Given the description of an element on the screen output the (x, y) to click on. 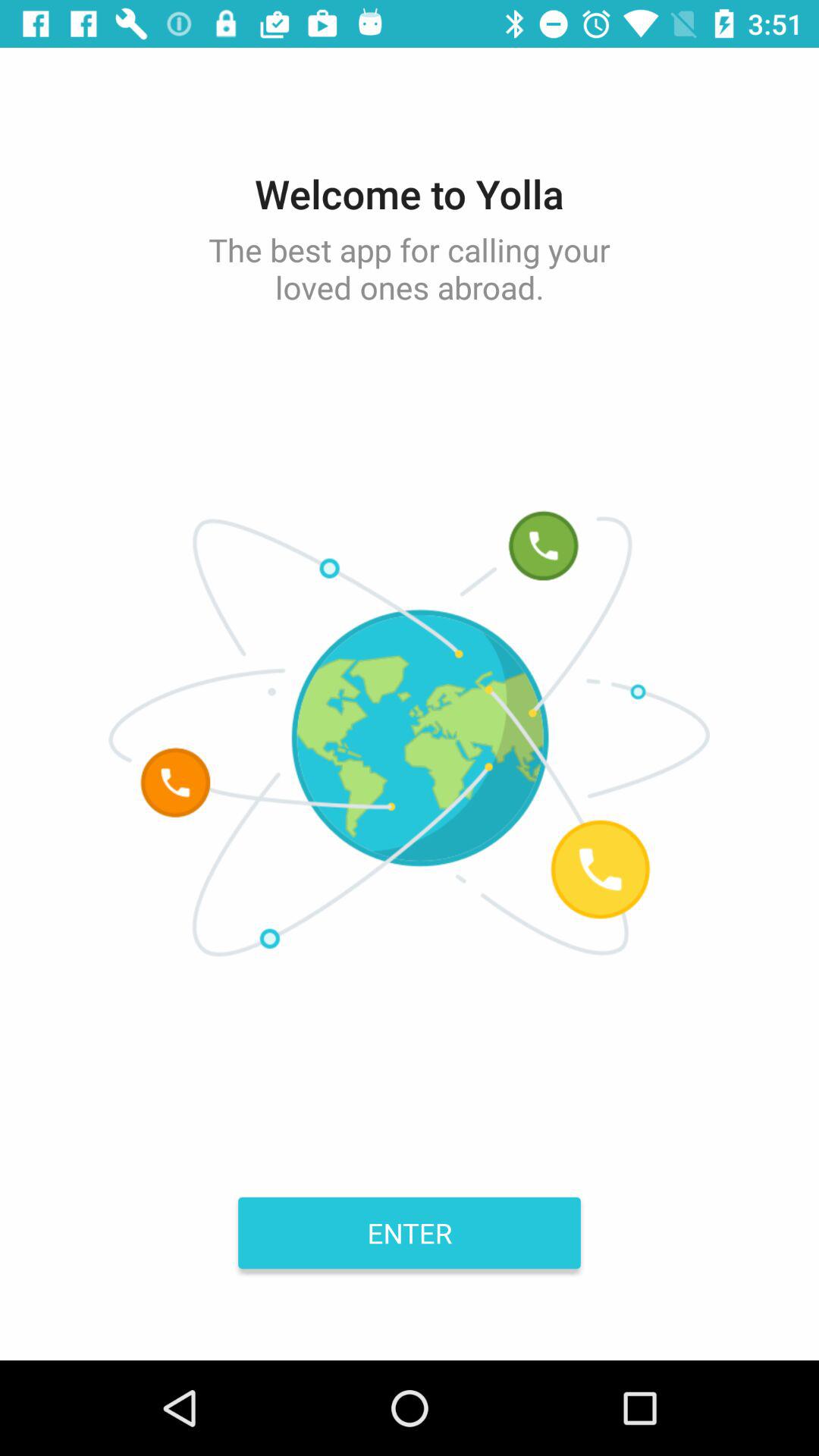
scroll until the enter icon (409, 1232)
